Given the description of an element on the screen output the (x, y) to click on. 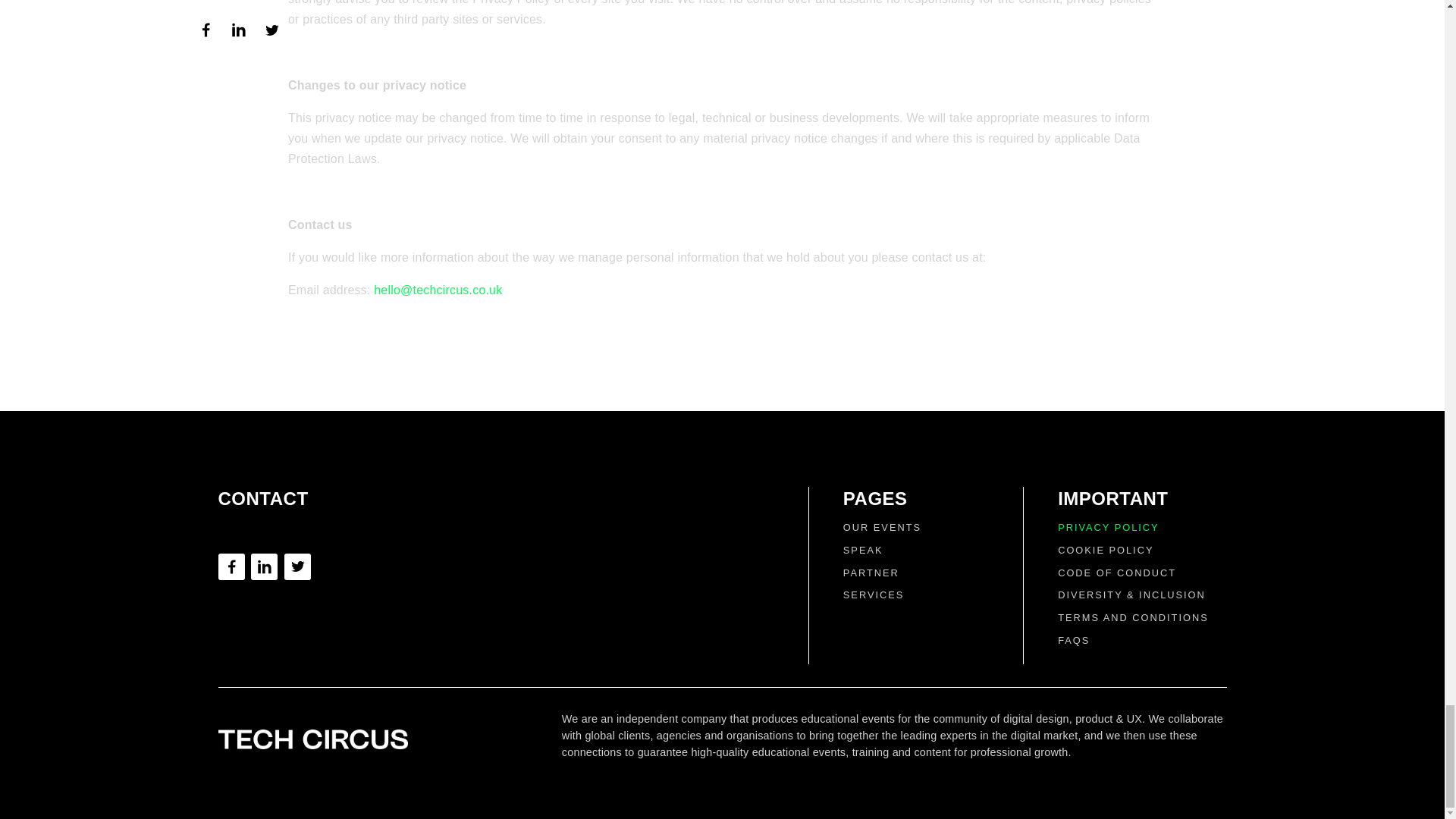
FAQs (1073, 640)
PARTNER (871, 572)
FAQS (1073, 640)
SPEAK (863, 550)
Partner (871, 572)
Terms and Conditions (1133, 617)
Services (873, 594)
TERMS AND CONDITIONS (1133, 617)
PRIVACY POLICY (1108, 527)
SERVICES (873, 594)
